Given the description of an element on the screen output the (x, y) to click on. 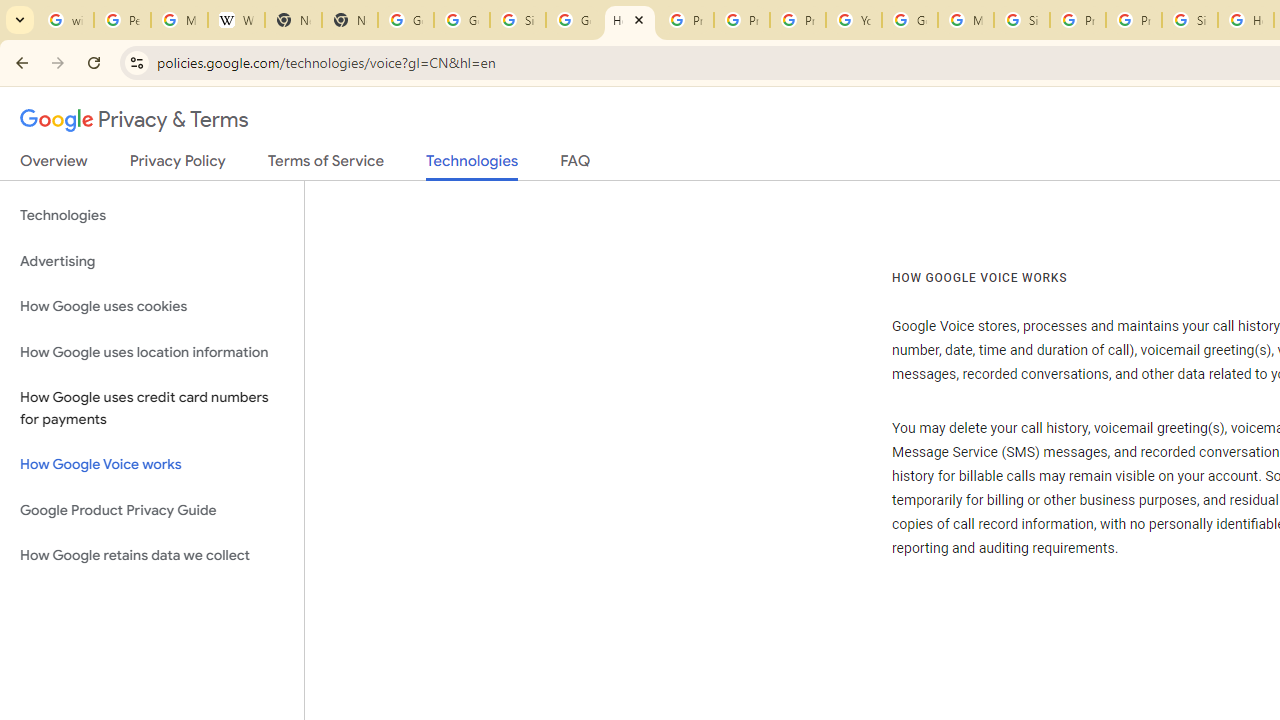
Personalization & Google Search results - Google Search Help (122, 20)
Wikipedia:Edit requests - Wikipedia (235, 20)
New Tab (349, 20)
Sign in - Google Accounts (1021, 20)
How Google uses credit card numbers for payments (152, 408)
